Given the description of an element on the screen output the (x, y) to click on. 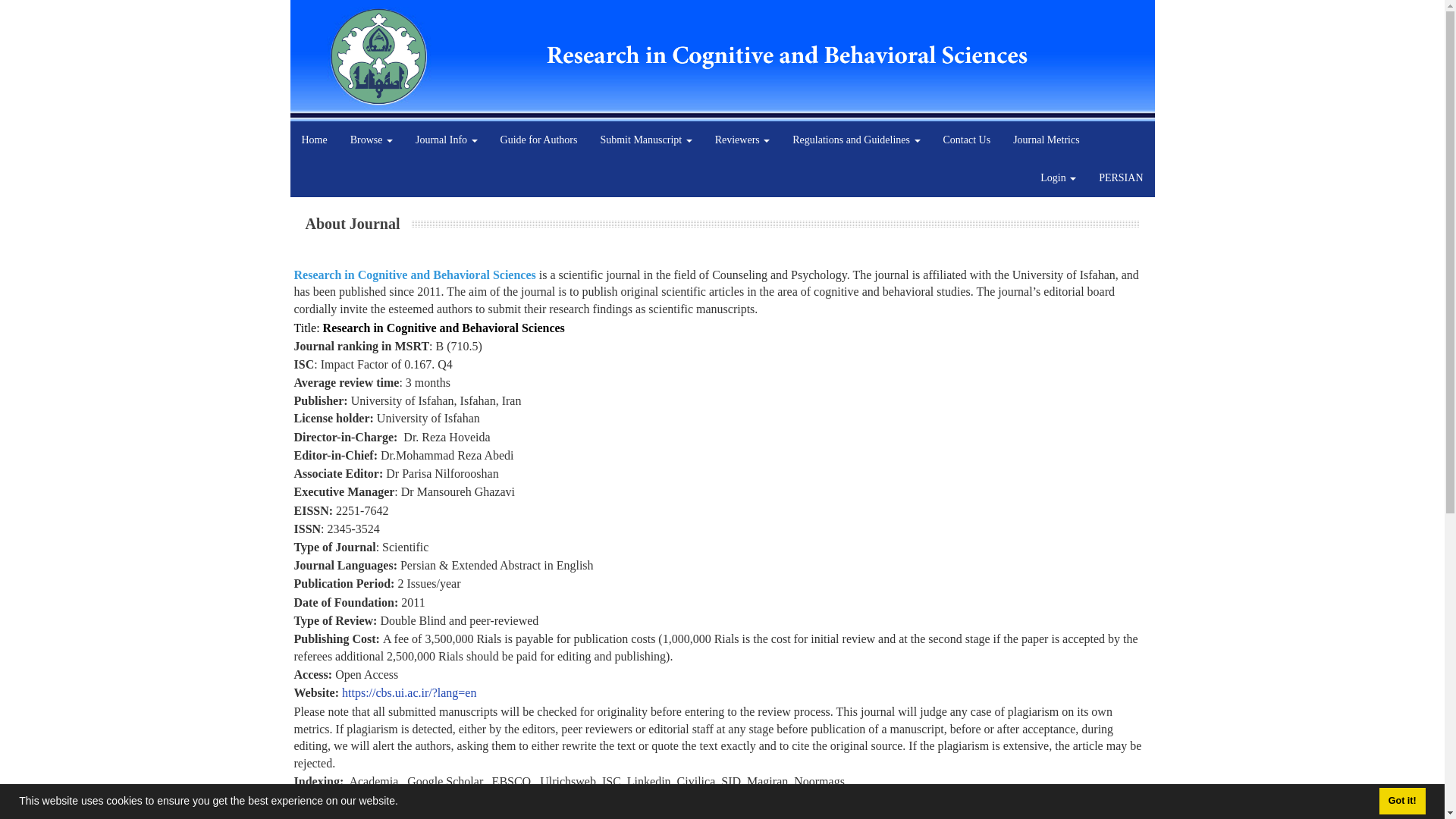
Home (313, 139)
Submit Manuscript (645, 139)
Reviewers (742, 139)
Got it! (1401, 800)
Journal Metrics (1045, 139)
Journal Info (446, 139)
Browse (371, 139)
PERSIAN (1120, 177)
Login (1058, 177)
Regulations and Guidelines (855, 139)
Guide for Authors (539, 139)
Contact Us (967, 139)
